Given the description of an element on the screen output the (x, y) to click on. 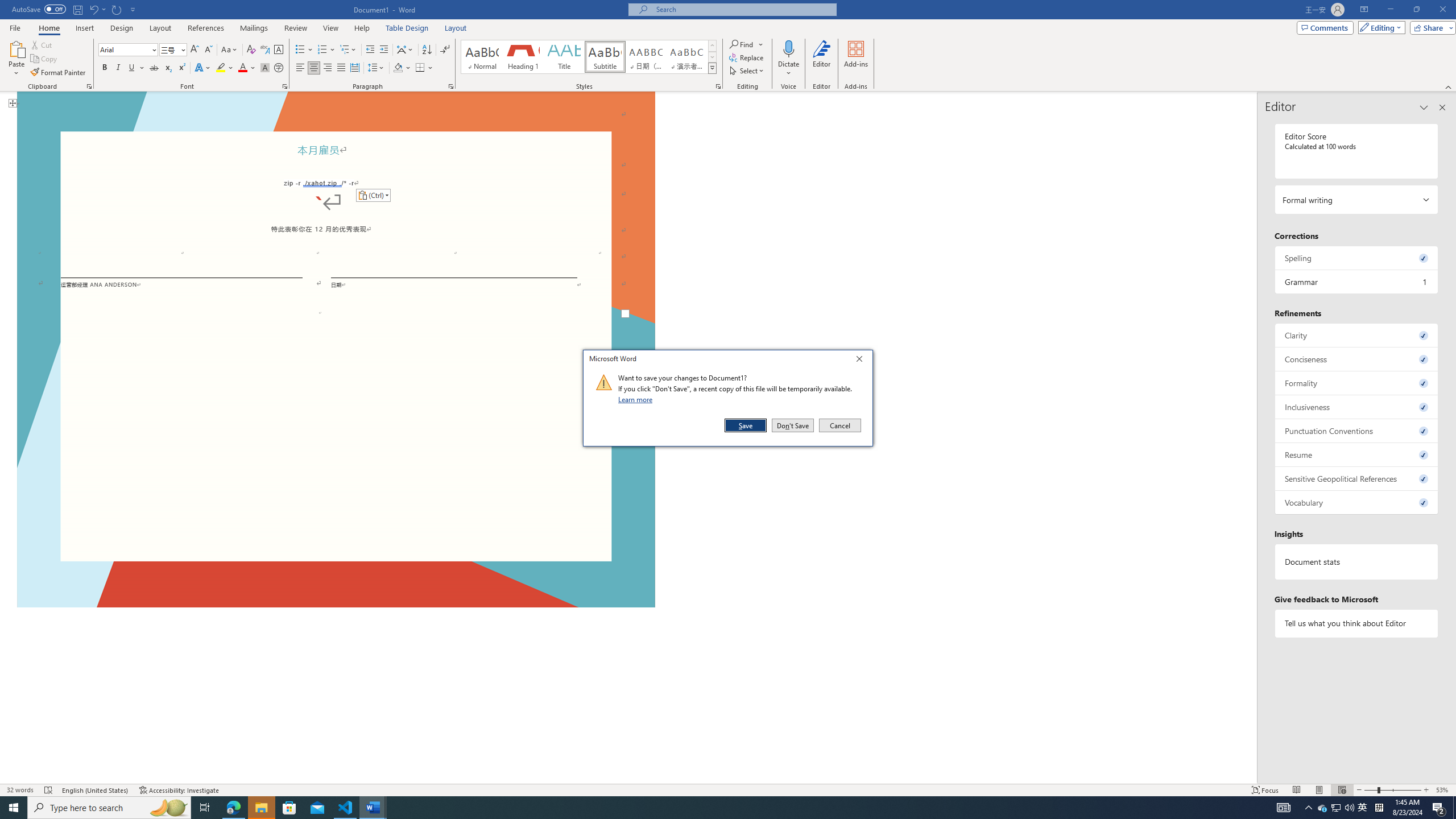
Grammar, 1 issue. Press space or enter to review items. (1356, 281)
